Given the description of an element on the screen output the (x, y) to click on. 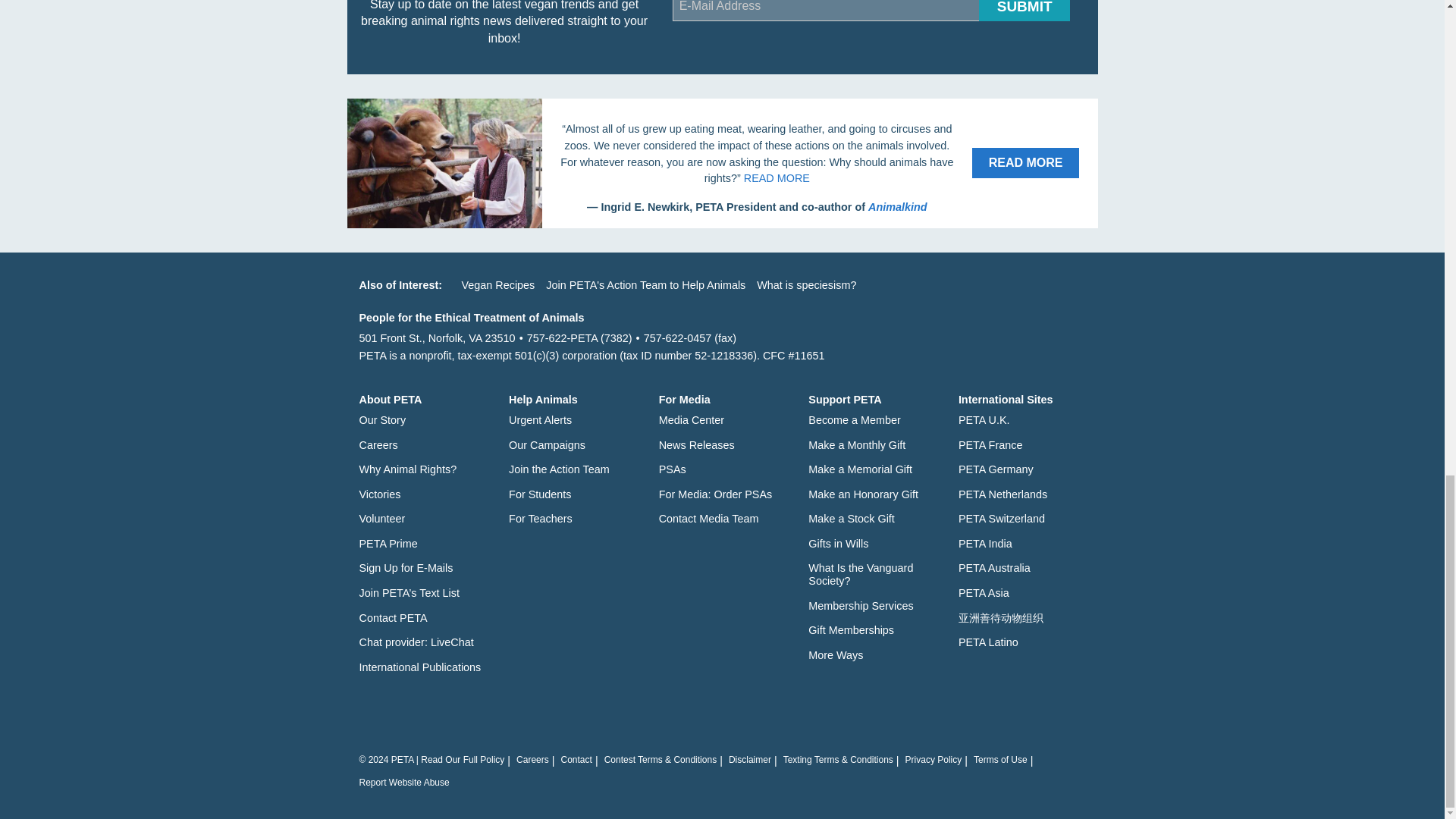
Submit (1024, 10)
